Given the description of an element on the screen output the (x, y) to click on. 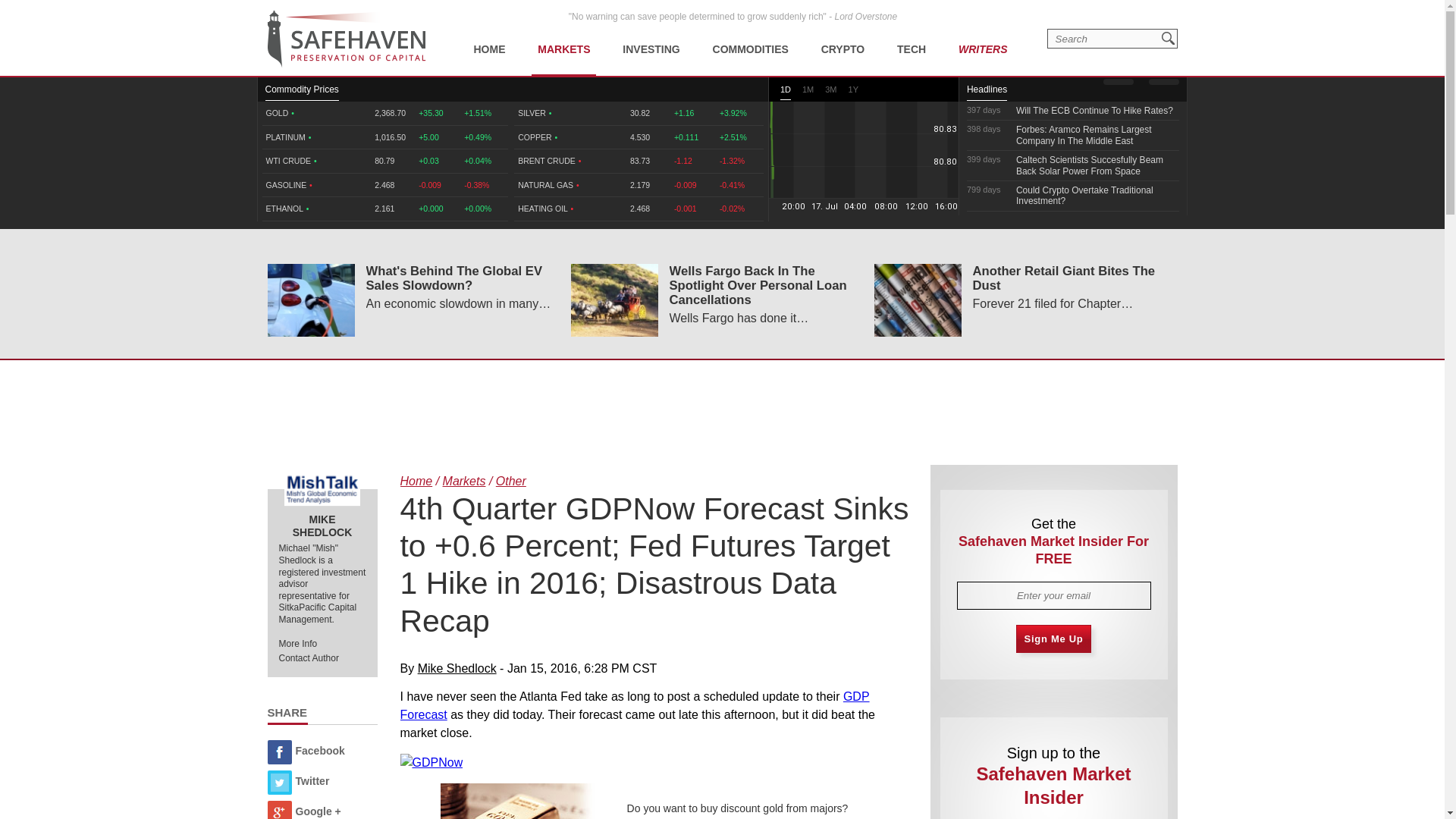
COMMODITIES (750, 38)
Headlines (986, 92)
Mike Shedlock (321, 489)
What's Behind The Global EV Sales Slowdown? (309, 299)
Oil prices - Oilprice.com (345, 38)
Another Retail Giant Bites The Dust (916, 299)
INVESTING (650, 38)
Commodity Prices (301, 92)
